Given the description of an element on the screen output the (x, y) to click on. 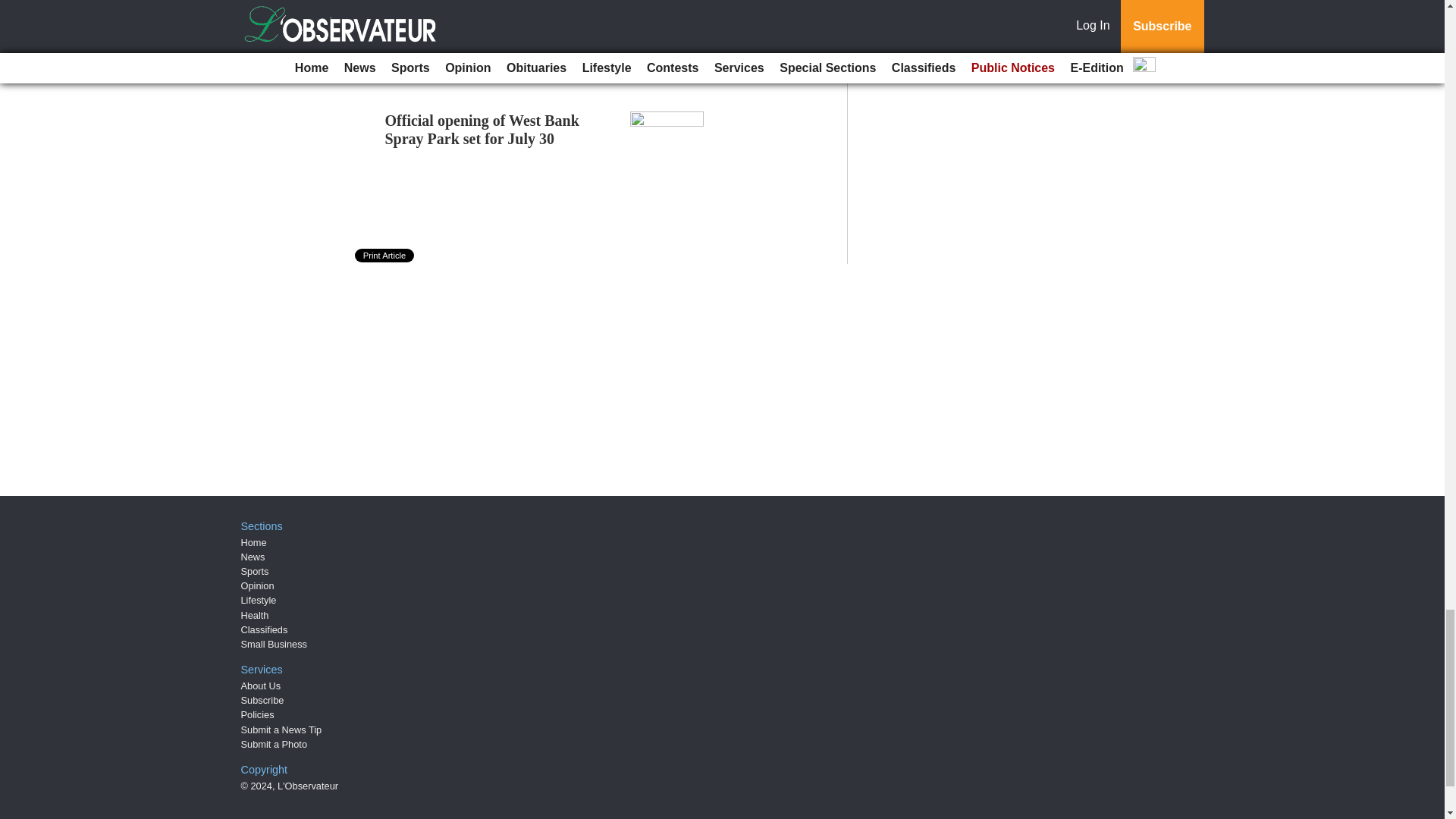
Official opening of West Bank Spray Park set for July 30 (482, 129)
Official opening of West Bank Spray Park set for July 30 (482, 129)
Print Article (384, 255)
